Given the description of an element on the screen output the (x, y) to click on. 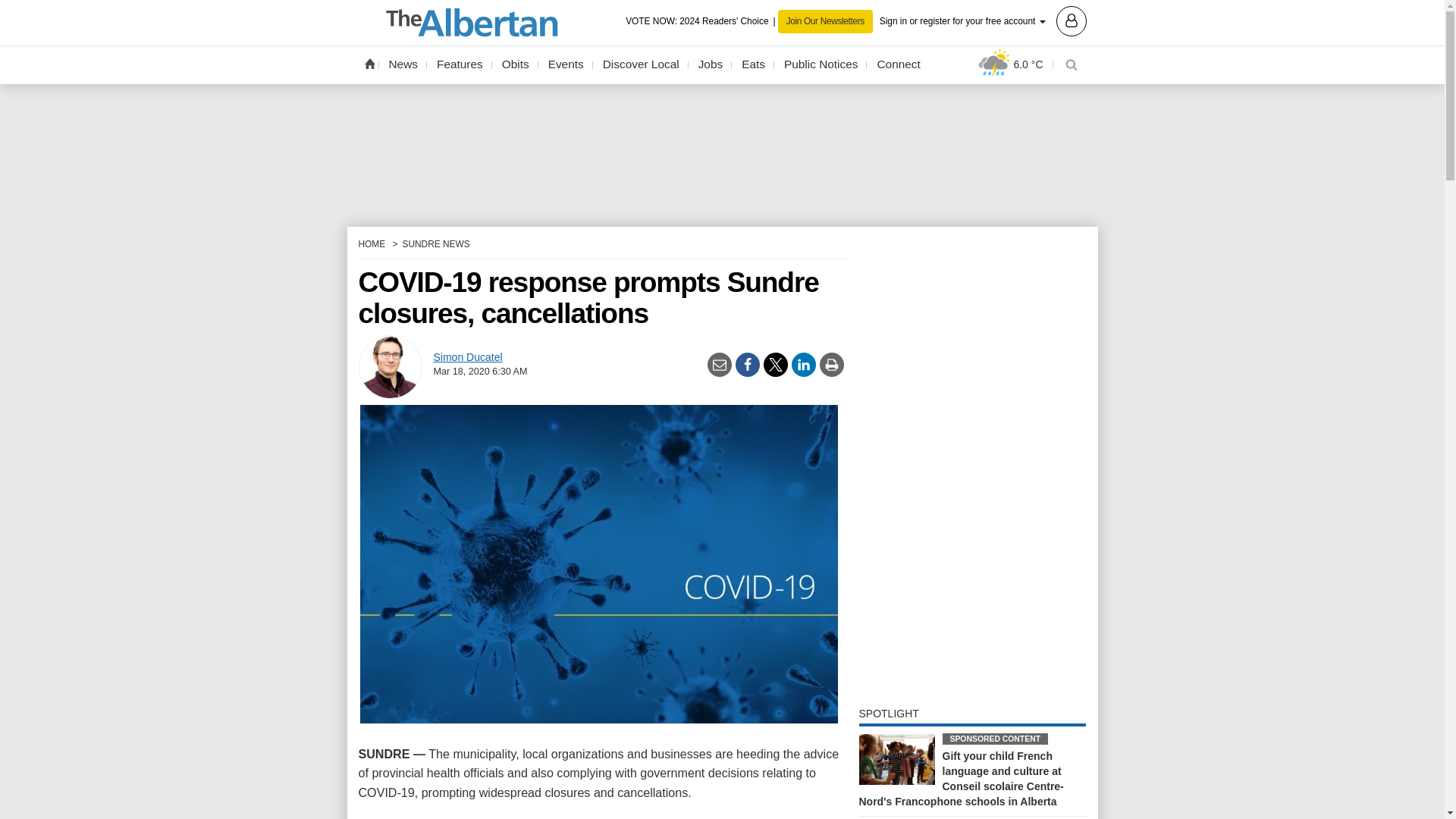
Join Our Newsletters (824, 21)
VOTE NOW: 2024 Readers' Choice (701, 21)
Home (368, 63)
Sign in or register for your free account (982, 20)
